Given the description of an element on the screen output the (x, y) to click on. 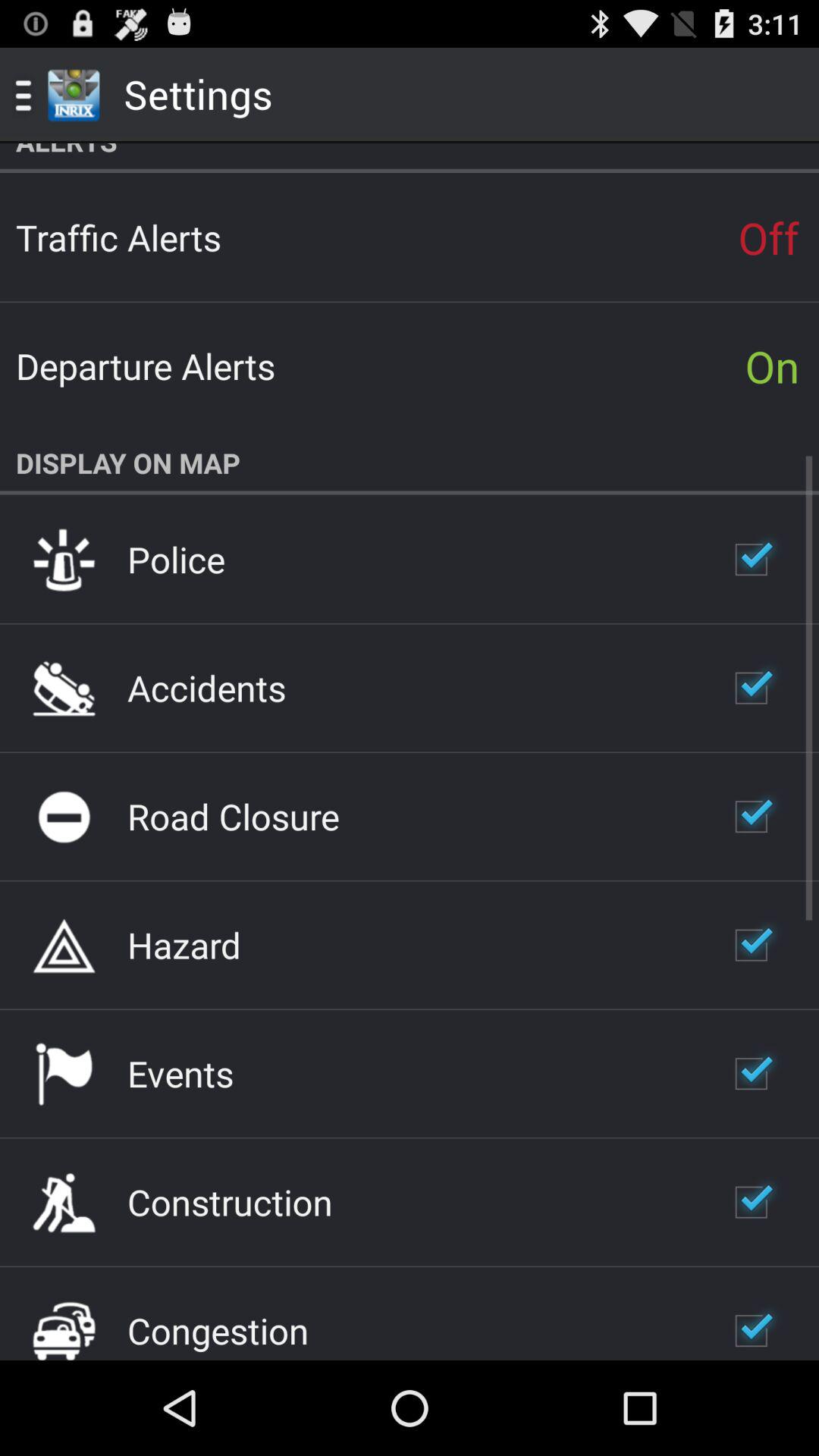
choose the events item (180, 1073)
